Given the description of an element on the screen output the (x, y) to click on. 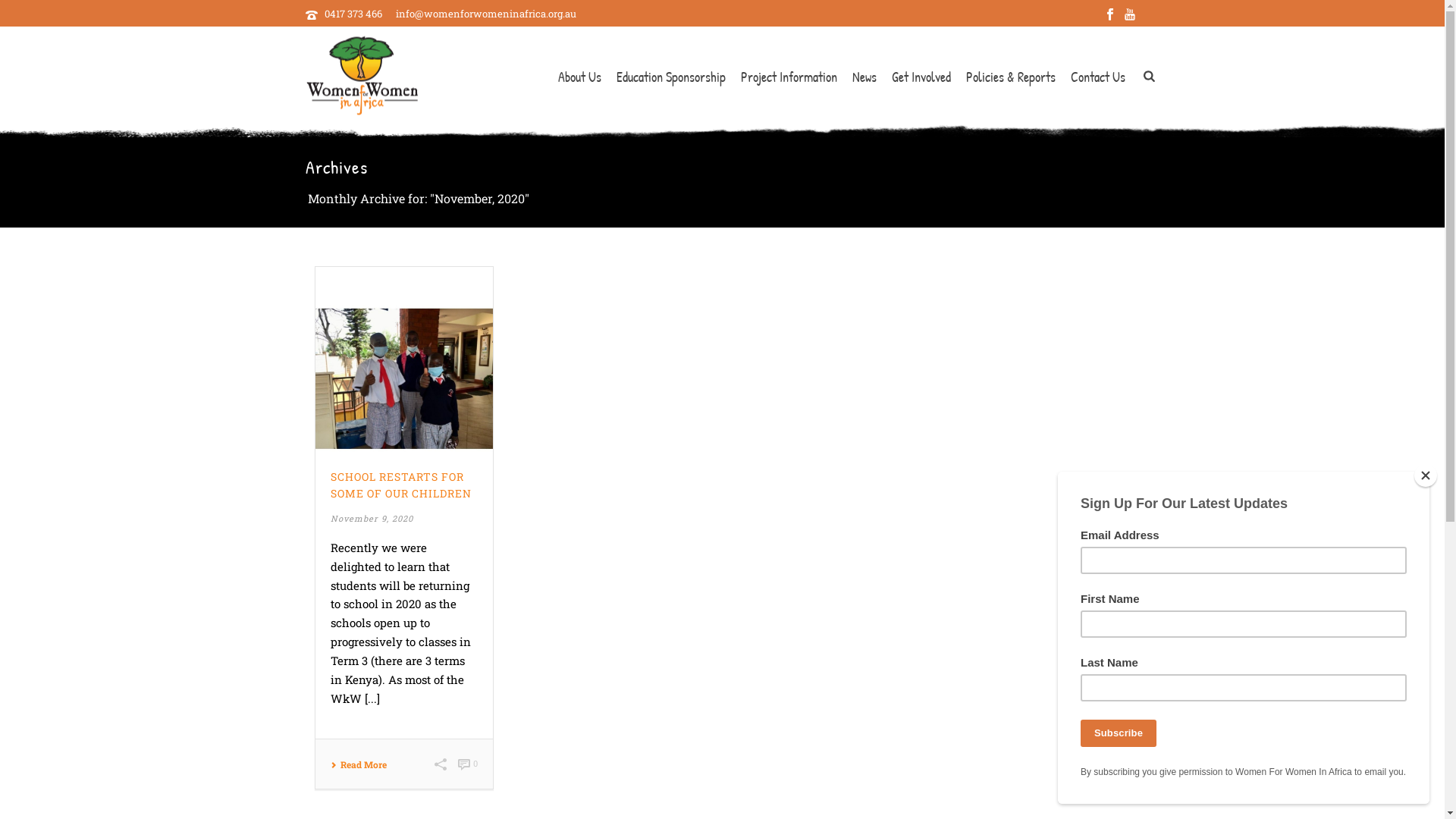
School Restarts For Some Of Our Children Element type: hover (403, 358)
Get Involved Element type: text (921, 77)
0417 373 466 Element type: text (353, 13)
November 9, 2020 Element type: text (371, 518)
Bringing hope to Africa's largest slum Element type: hover (360, 75)
Policies & Reports Element type: text (1010, 77)
Project Information Element type: text (788, 77)
Read More Element type: text (358, 763)
About Us Element type: text (579, 77)
  Element type: text (403, 358)
Contact Us Element type: text (1097, 77)
0 Element type: text (467, 763)
SCHOOL RESTARTS FOR SOME OF OUR CHILDREN Element type: text (400, 484)
Education Sponsorship Element type: text (670, 77)
News Element type: text (864, 77)
